Given the description of an element on the screen output the (x, y) to click on. 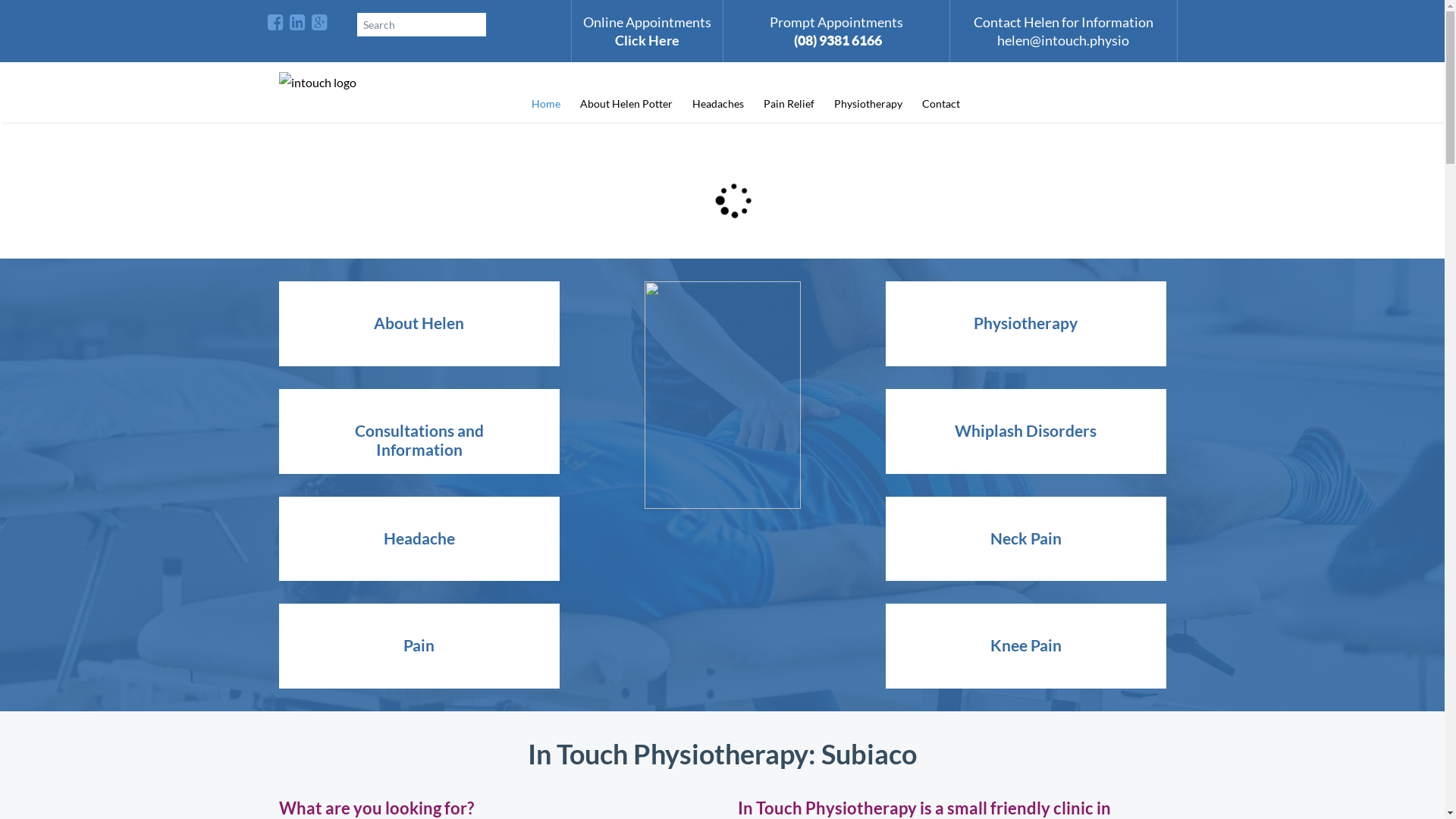
Physiotherapy Element type: text (867, 103)
Pain Relief Element type: text (788, 103)
Consultations and Information Element type: text (419, 431)
In Touch Physiotherapy Subiaco Element type: hover (381, 82)
helen@intouch.physio Element type: text (1063, 39)
Home Element type: text (545, 103)
Contact Element type: text (940, 103)
About Helen Element type: text (419, 323)
Neck Pain Element type: text (1025, 537)
Physiotherapy Element type: text (1025, 323)
About Helen Potter Element type: text (626, 103)
Knee Pain Element type: text (1025, 645)
Prompt Appointments
(08) 9381 6166 Element type: text (835, 30)
Headaches Element type: text (717, 103)
Whiplash Disorders Element type: text (1025, 431)
home-banner Element type: hover (722, 394)
Pain Element type: text (419, 645)
Headache Element type: text (419, 537)
Click Here Element type: text (646, 39)
